Given the description of an element on the screen output the (x, y) to click on. 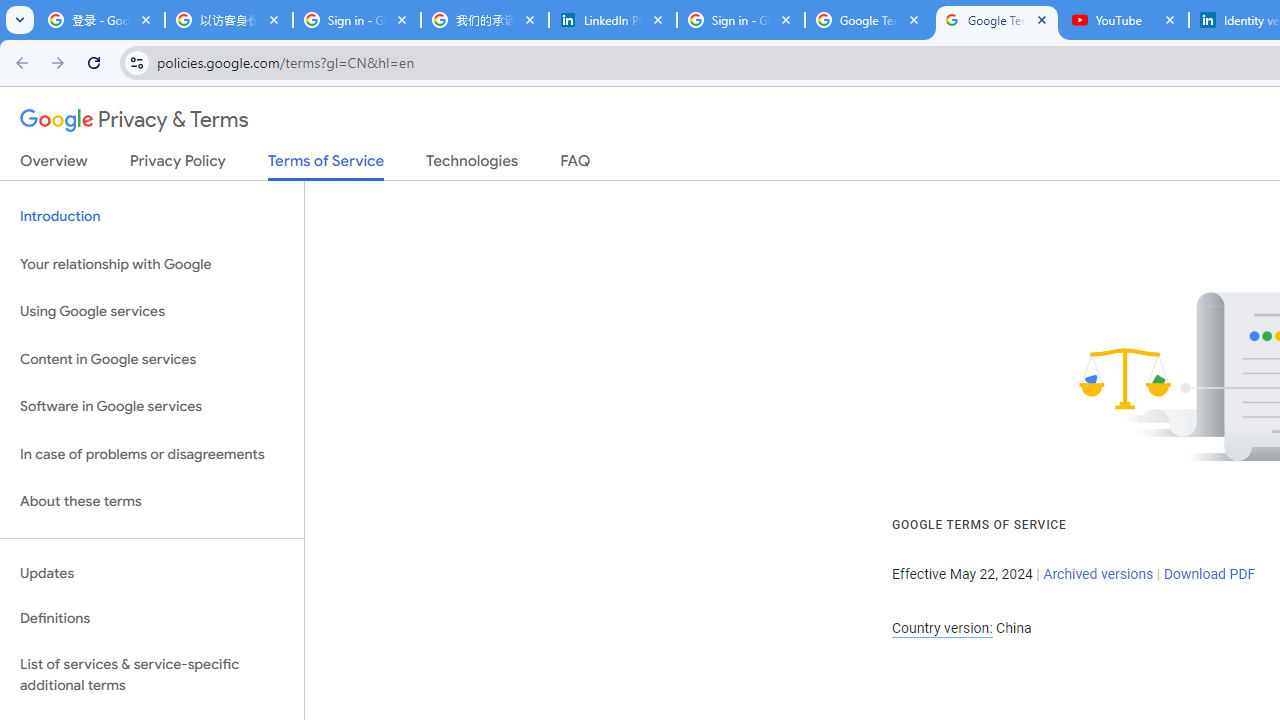
Content in Google services (152, 358)
Using Google services (152, 312)
In case of problems or disagreements (152, 453)
Sign in - Google Accounts (357, 20)
About these terms (152, 502)
